Given the description of an element on the screen output the (x, y) to click on. 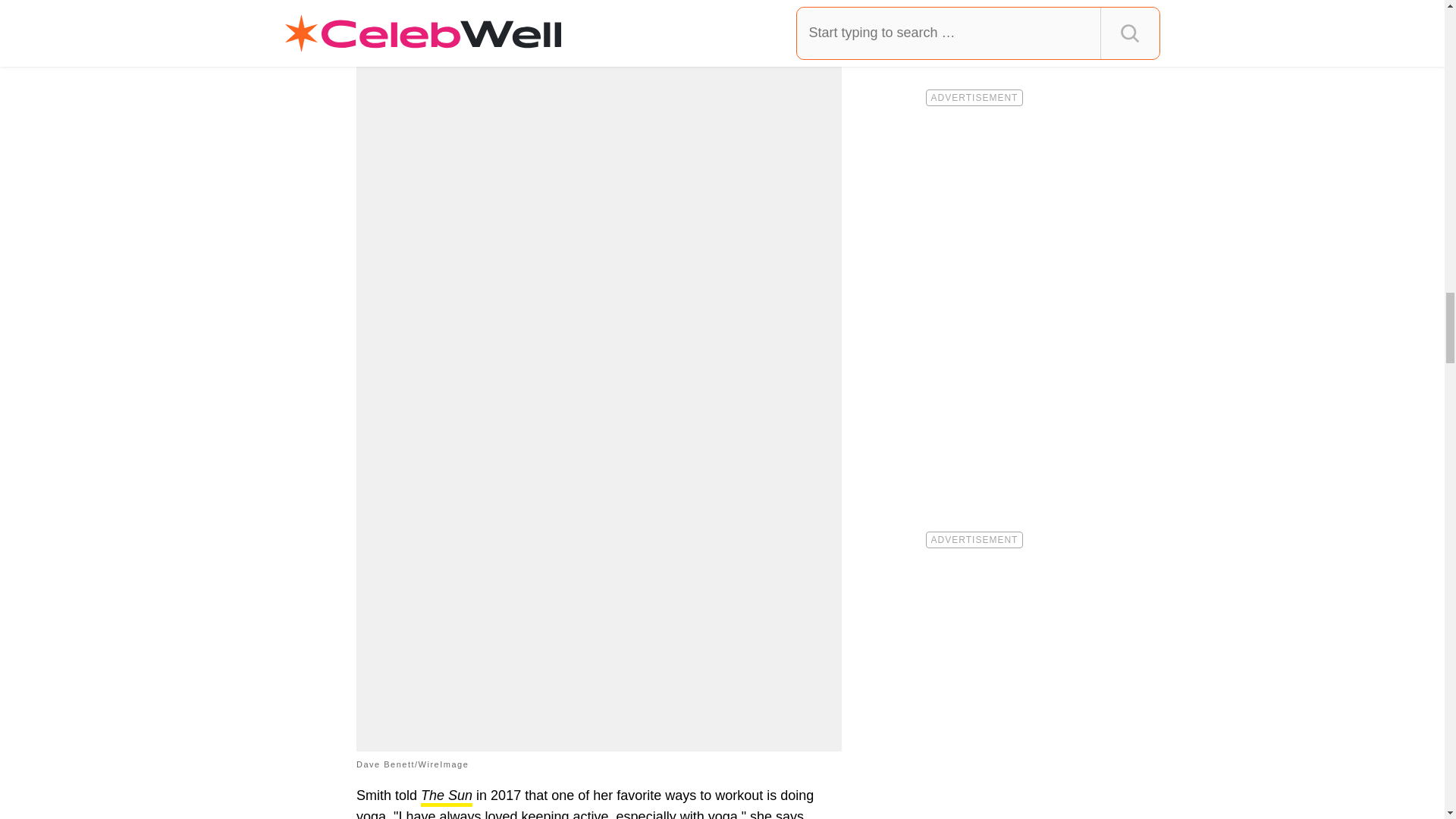
The Sun (445, 796)
